Given the description of an element on the screen output the (x, y) to click on. 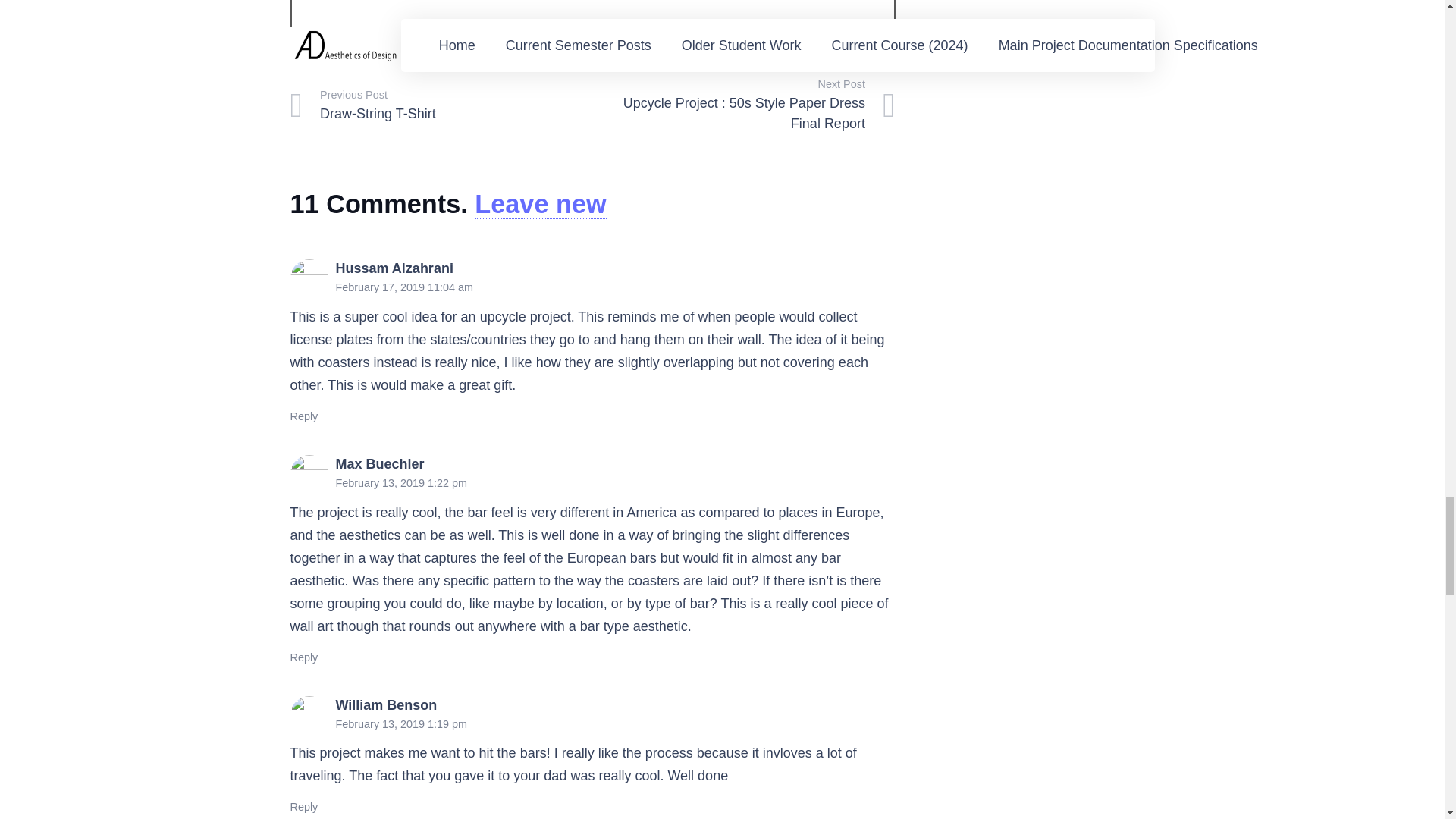
February 13, 2019 1:19 pm (400, 724)
Upcycle Project : 50s Style Paper Dress Final Report (743, 105)
February 13, 2019 1:22 pm (400, 482)
Draw-String T-Shirt (440, 105)
February 17, 2019 11:04 am (403, 287)
